Given the description of an element on the screen output the (x, y) to click on. 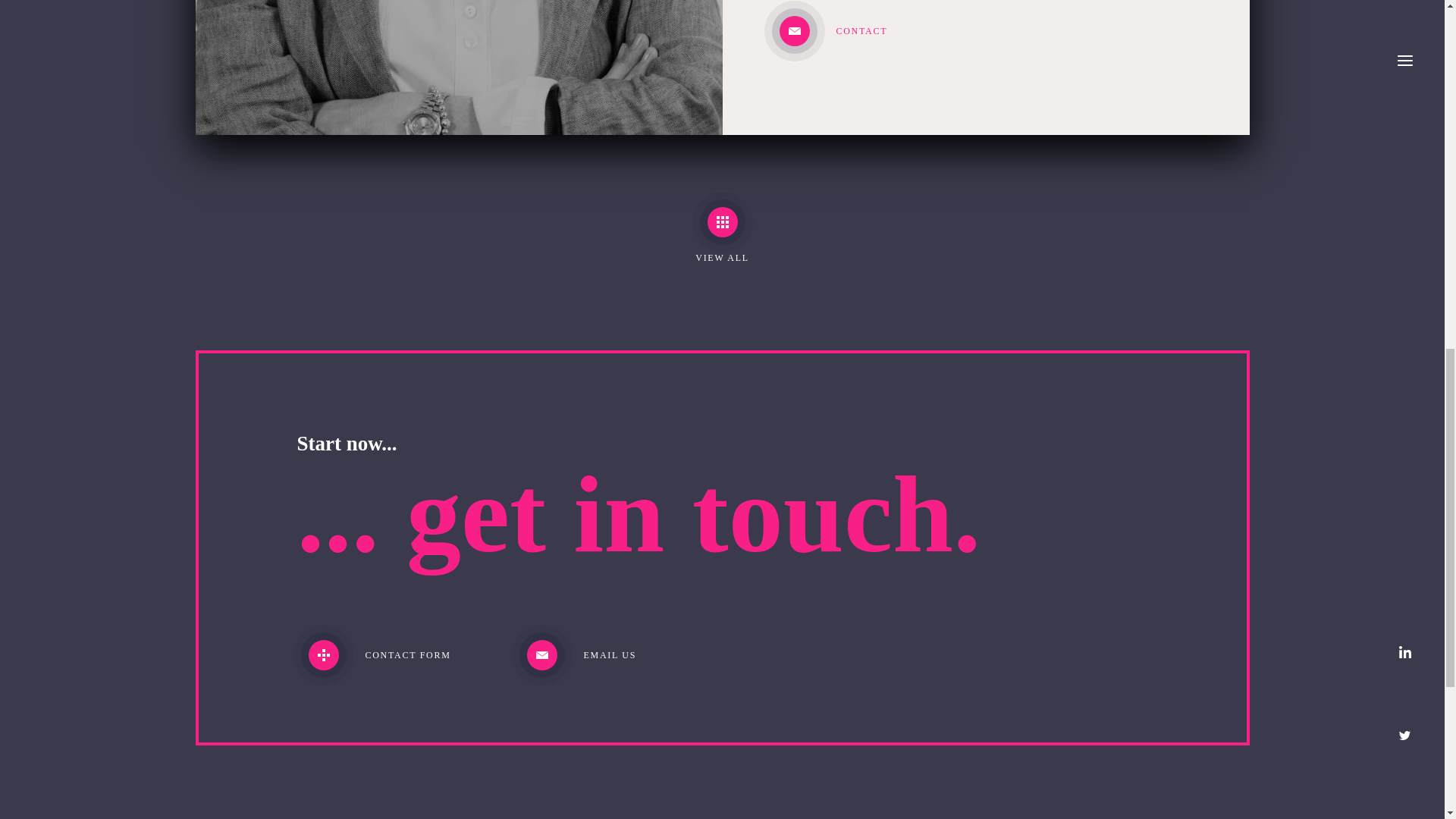
CONTACT (985, 30)
CONTACT FORM (403, 654)
VIEW ALL (722, 238)
EMAIL US (621, 654)
